Given the description of an element on the screen output the (x, y) to click on. 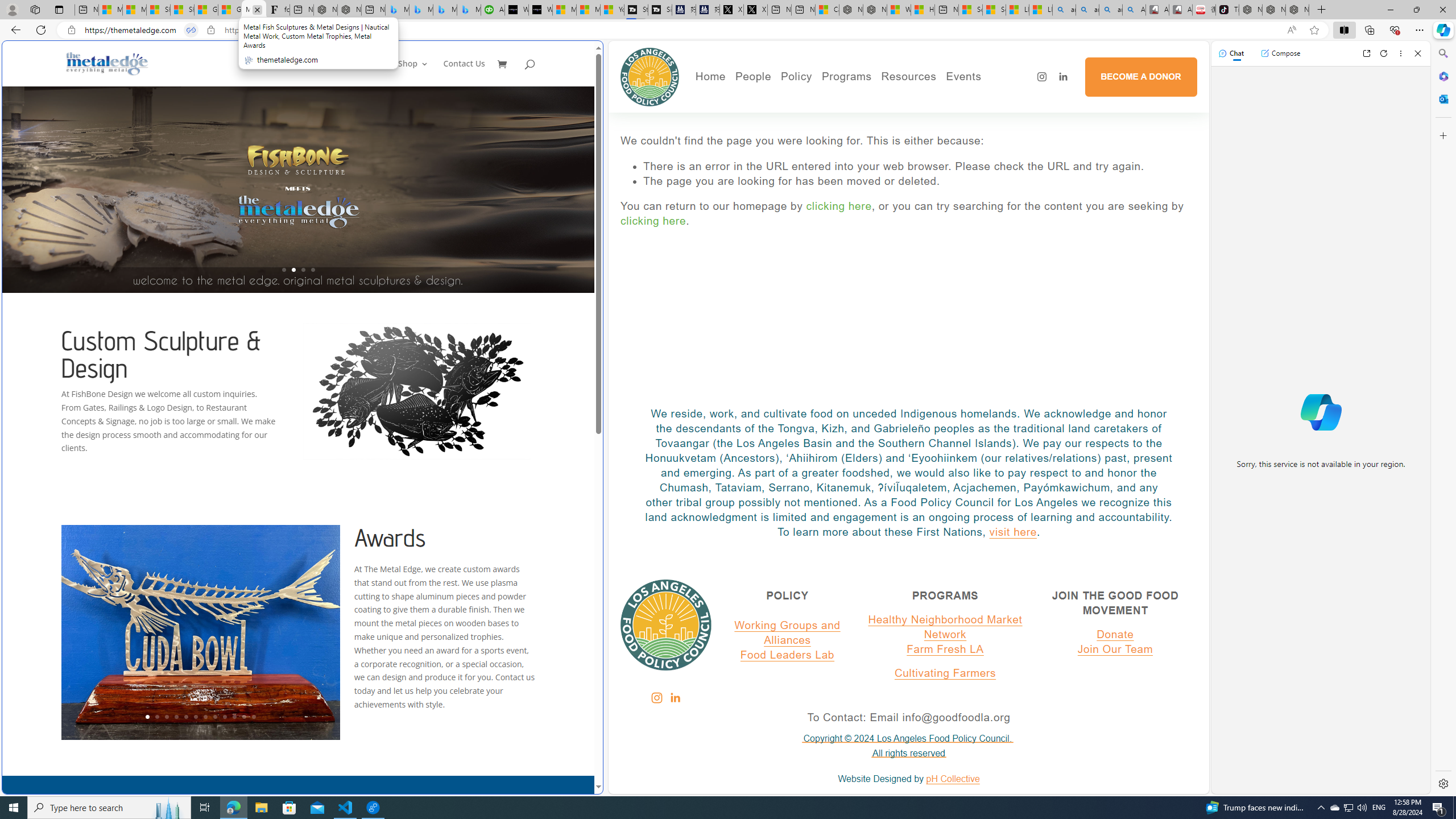
Nordace Siena Pro 15 Backpack (1273, 9)
Close tab (256, 9)
Browser essentials (1394, 29)
1 (147, 716)
Read aloud this page (Ctrl+Shift+U) (1291, 29)
Settings and more (Alt+F) (1419, 29)
Restore (1416, 9)
Add this page to favorites (Ctrl+D) (1314, 29)
Accounting Software for Accountants, CPAs and Bookkeepers (492, 9)
New Tab (1321, 9)
5 (185, 716)
Collections (1369, 29)
Search (1442, 53)
